Given the description of an element on the screen output the (x, y) to click on. 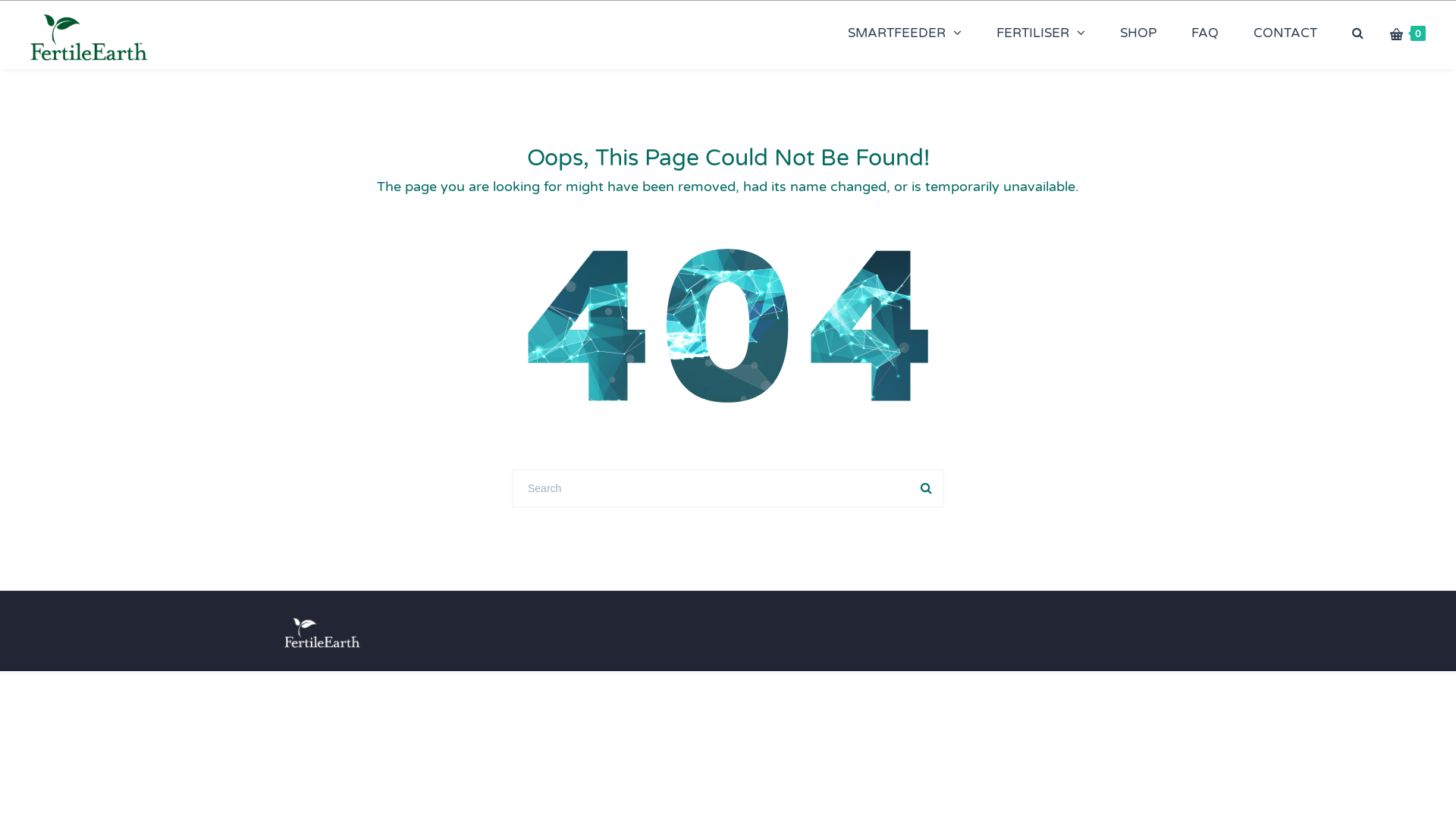
Fertile Earth Element type: hover (88, 34)
FERTILISER Element type: text (1040, 32)
SHOP Element type: text (1137, 32)
FAQ Element type: text (1204, 32)
CONTACT Element type: text (1285, 32)
SMARTFEEDER Element type: text (904, 32)
